Given the description of an element on the screen output the (x, y) to click on. 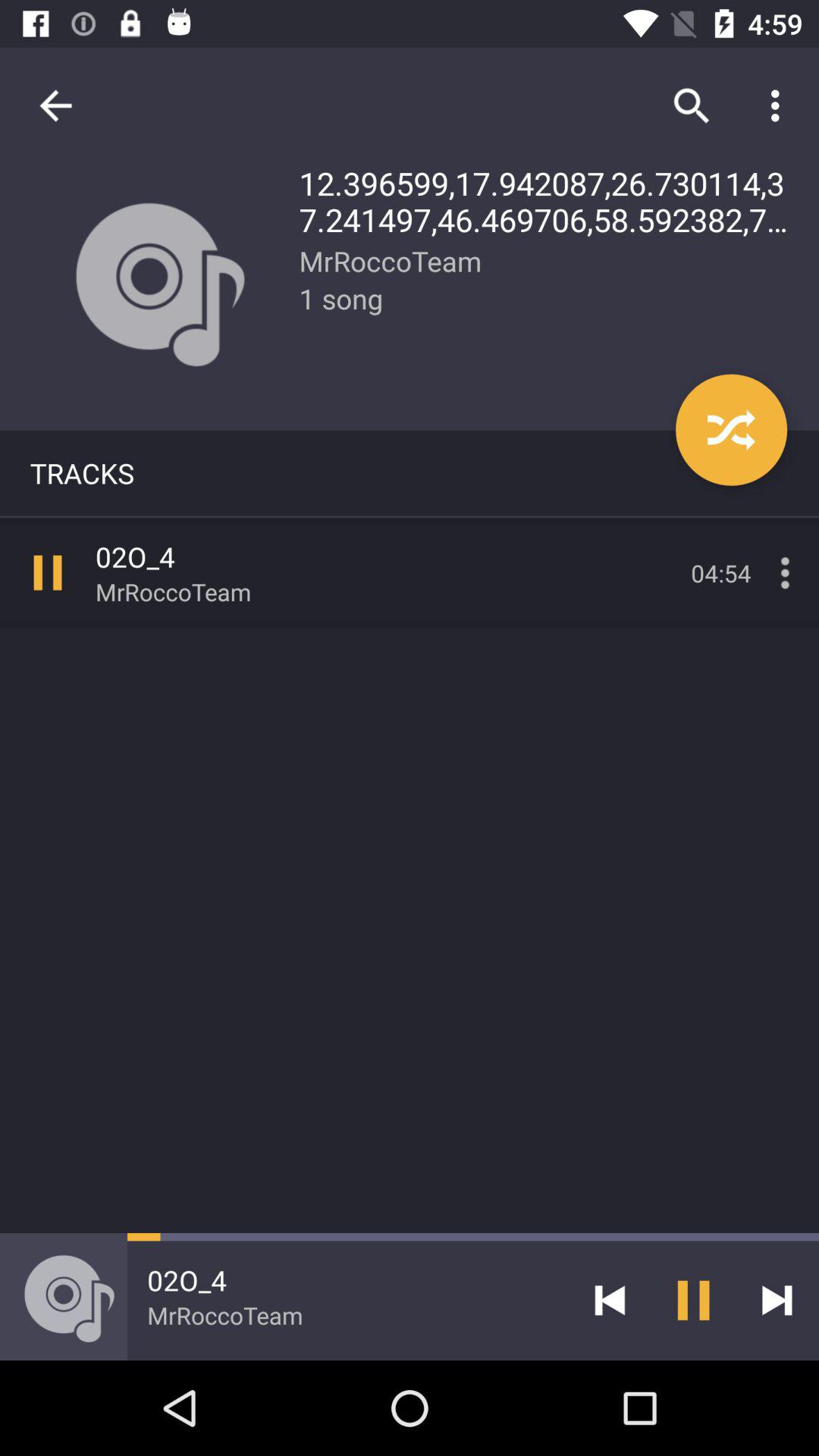
turn on item above 12 396599 17 (691, 105)
